Given the description of an element on the screen output the (x, y) to click on. 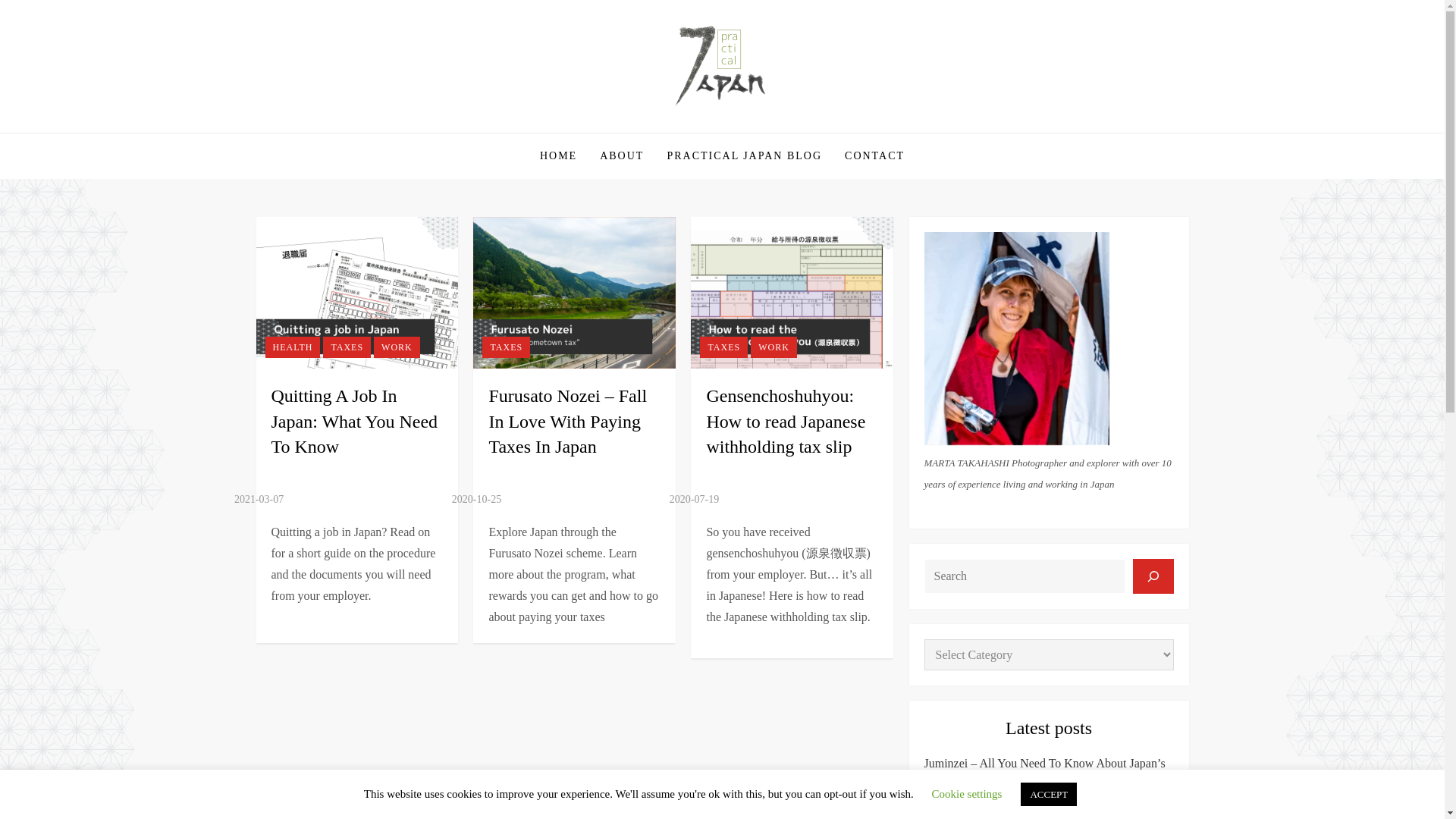
Practical Japan (347, 131)
HOME (558, 156)
Quitting A Job In Japan: What You Need To Know (354, 420)
TAXES (724, 346)
WORK (773, 346)
2020-10-25 (475, 499)
2020-07-19 (694, 499)
TAXES (347, 346)
ABOUT (621, 156)
Gensenchoshuhyou: How to read Japanese withholding tax slip (785, 420)
